Given the description of an element on the screen output the (x, y) to click on. 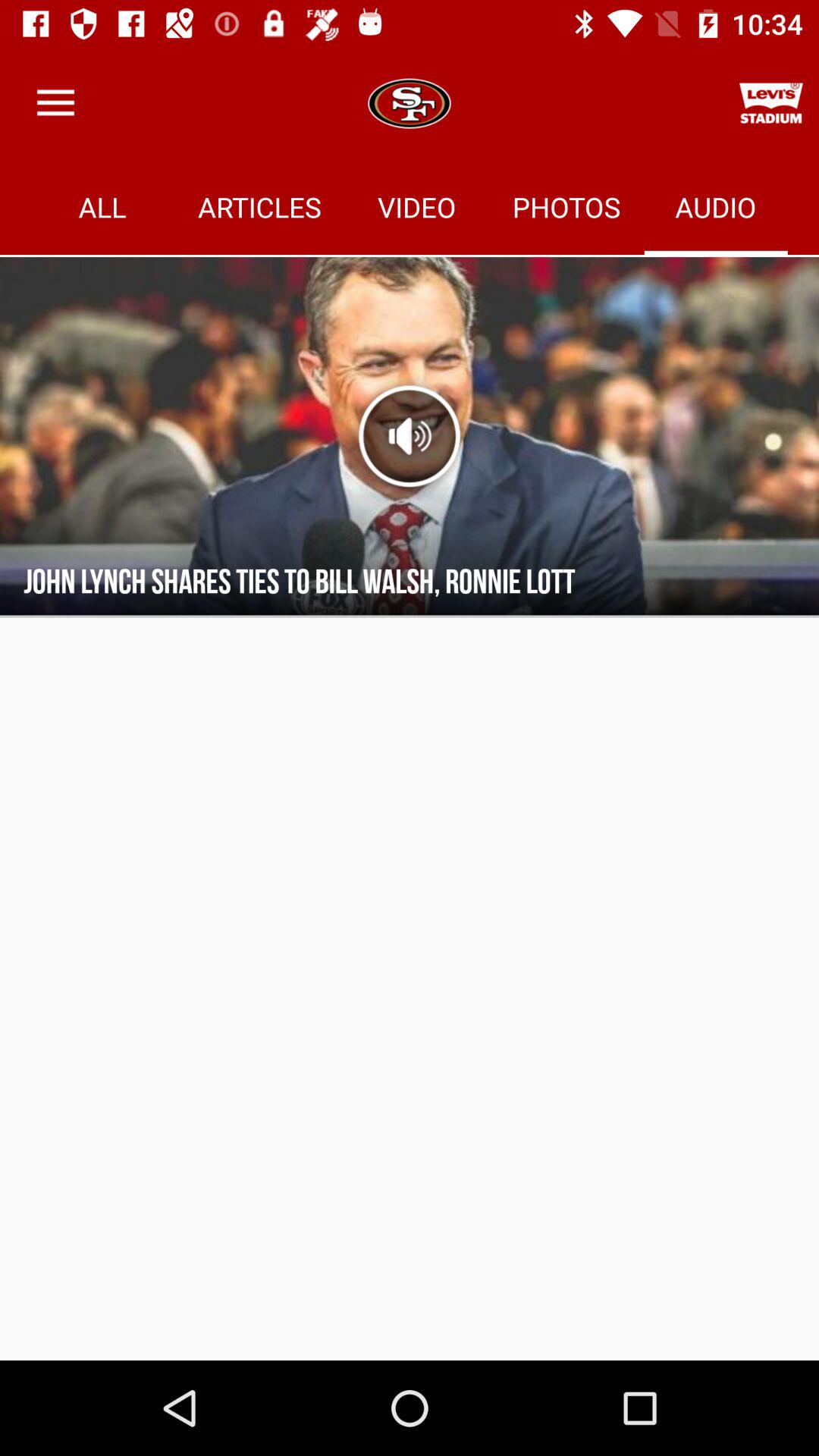
tap the icon above audio item (771, 103)
